Given the description of an element on the screen output the (x, y) to click on. 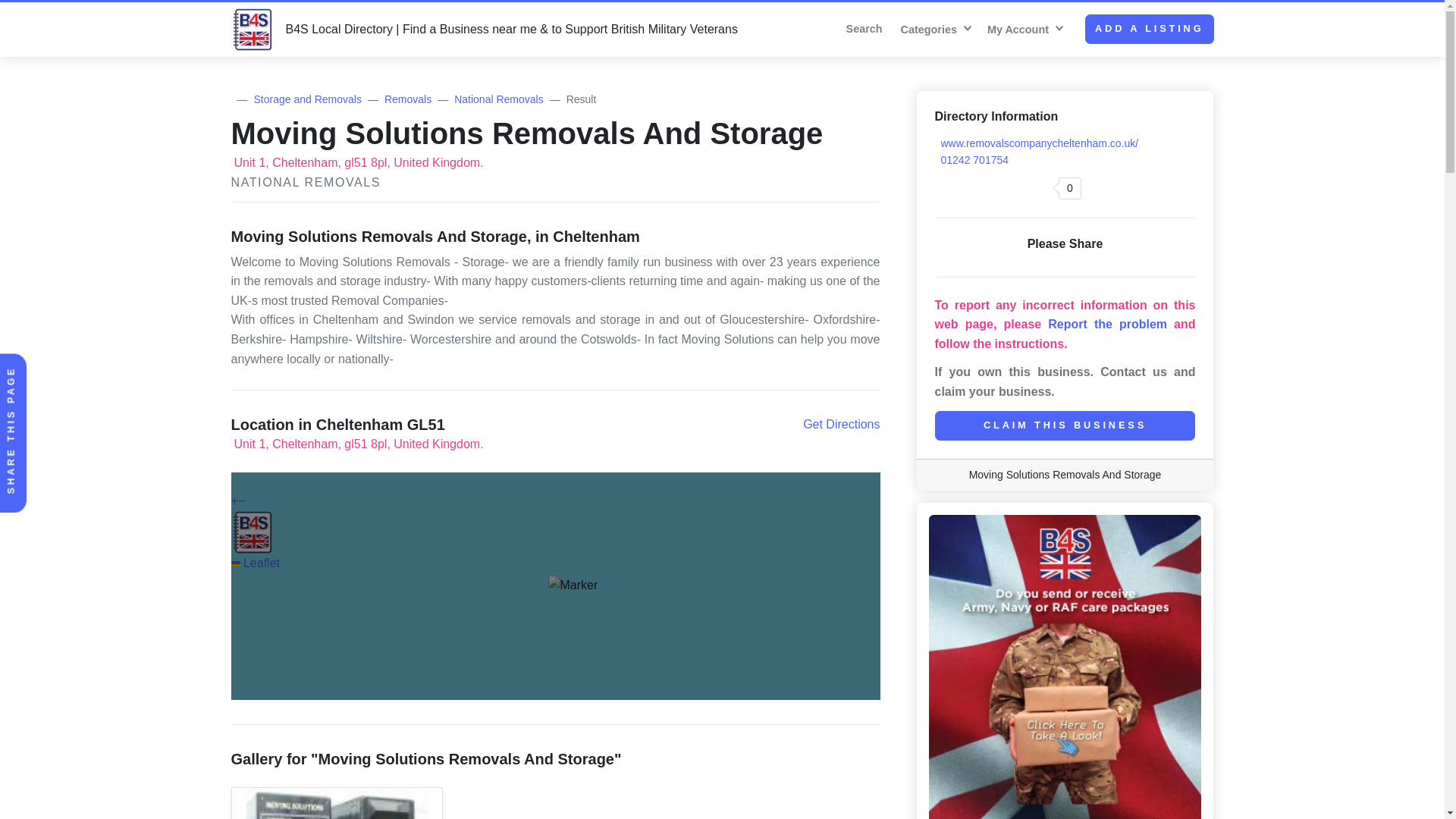
Get Directions (841, 424)
01242 701754 (971, 159)
Unit 1, Cheltenham, gl51 8pl, United Kingdom. (356, 162)
A JavaScript library for interactive maps (254, 562)
Leaflet (254, 562)
National Removals (498, 99)
Removals (407, 99)
Storage and Removals (307, 99)
CLAIM THIS BUSINESS (1064, 425)
Search For A Product On This Website (867, 29)
